Given the description of an element on the screen output the (x, y) to click on. 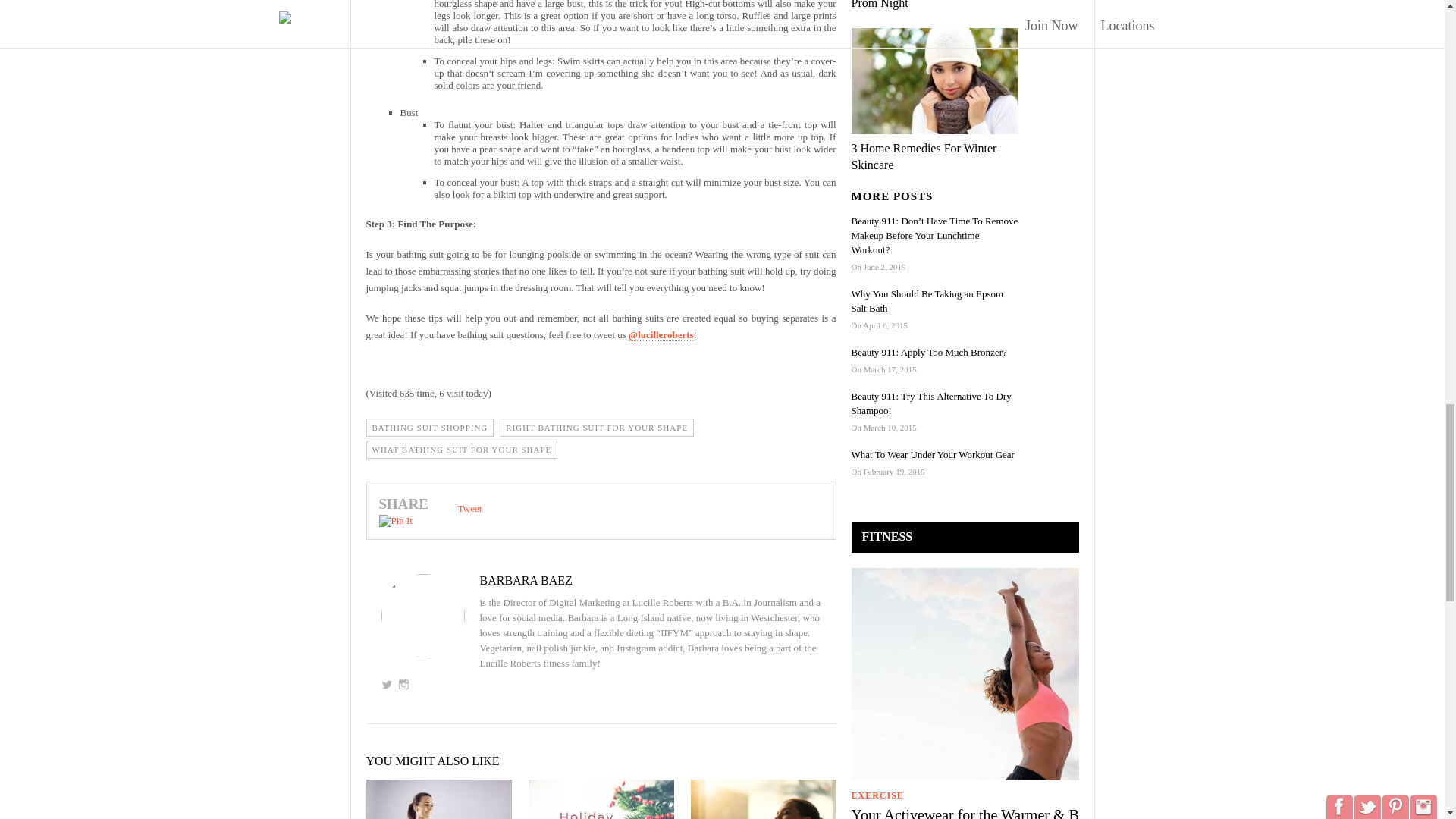
WHAT BATHING SUIT FOR YOUR SHAPE (461, 449)
Pin It (395, 521)
BARBARA BAEZ (600, 581)
Tweet (469, 508)
RIGHT BATHING SUIT FOR YOUR SHAPE (596, 427)
BATHING SUIT SHOPPING (429, 427)
Posts by Barbara Baez (600, 581)
